Given the description of an element on the screen output the (x, y) to click on. 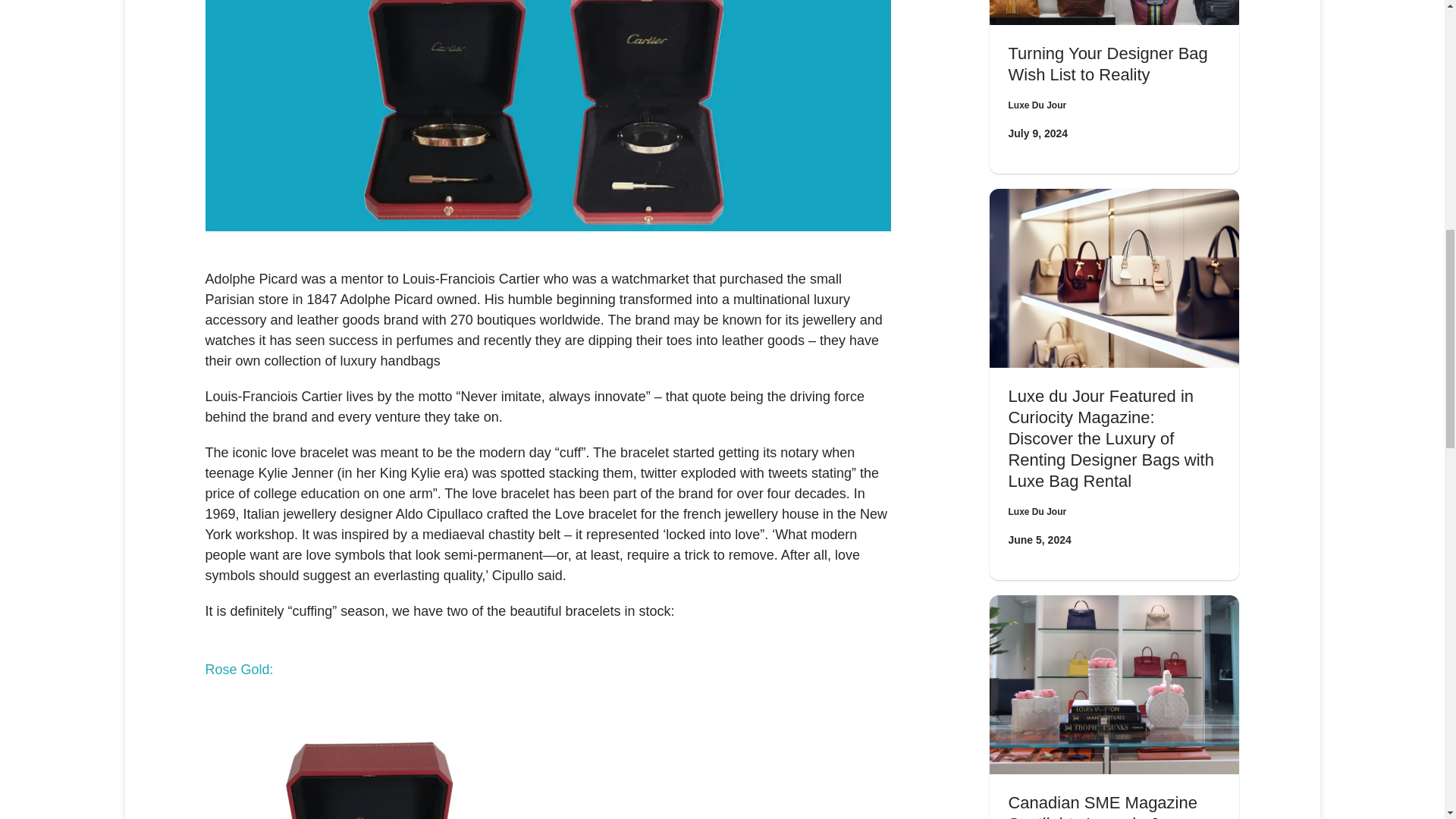
Turning Your Designer Bag Wish List to Reality (1107, 64)
Rose Gold: (239, 669)
